Given the description of an element on the screen output the (x, y) to click on. 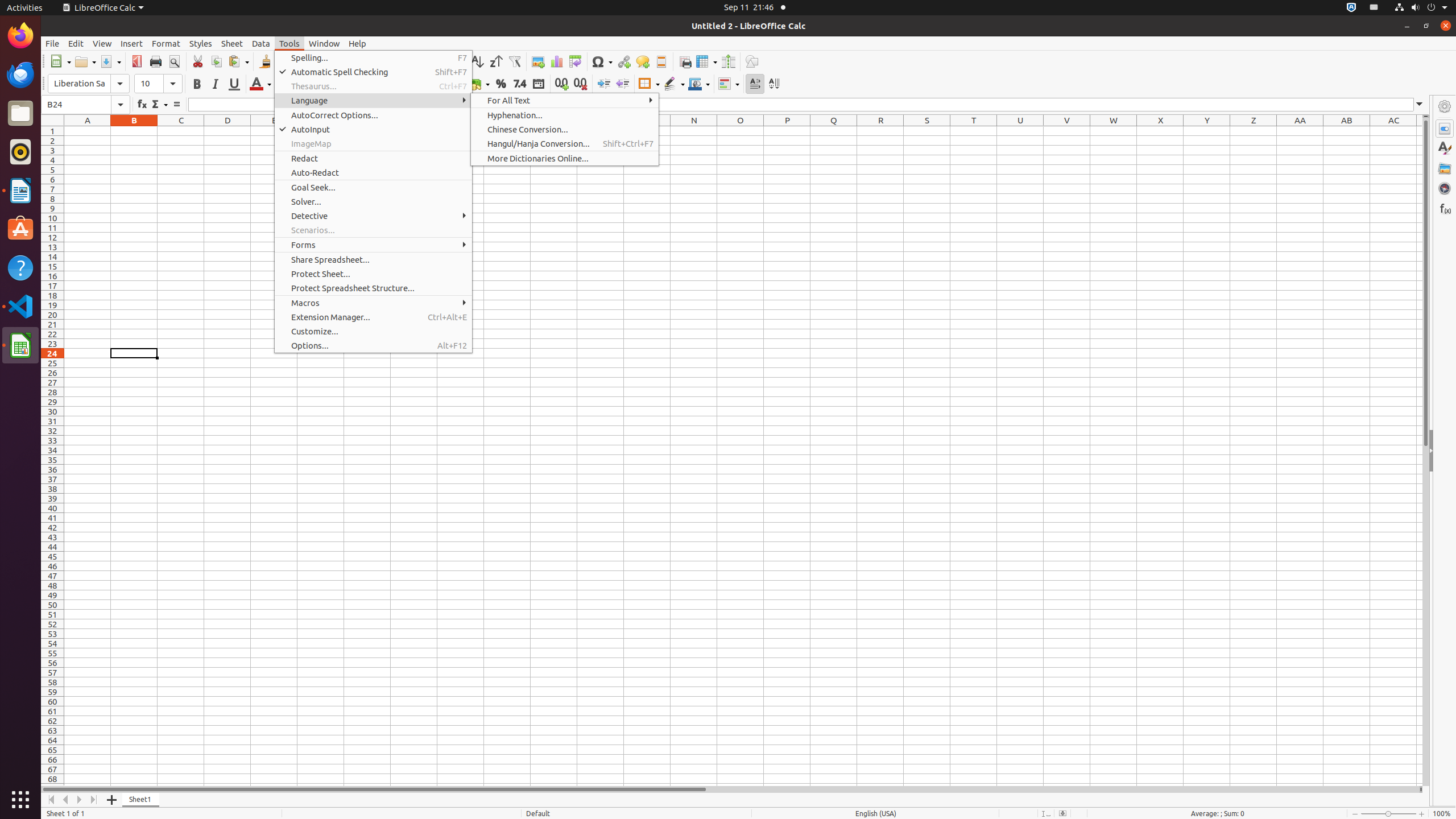
Bold Element type: toggle-button (196, 83)
Text direction from top to bottom Element type: toggle-button (773, 83)
Sheet Element type: menu (231, 43)
